Given the description of an element on the screen output the (x, y) to click on. 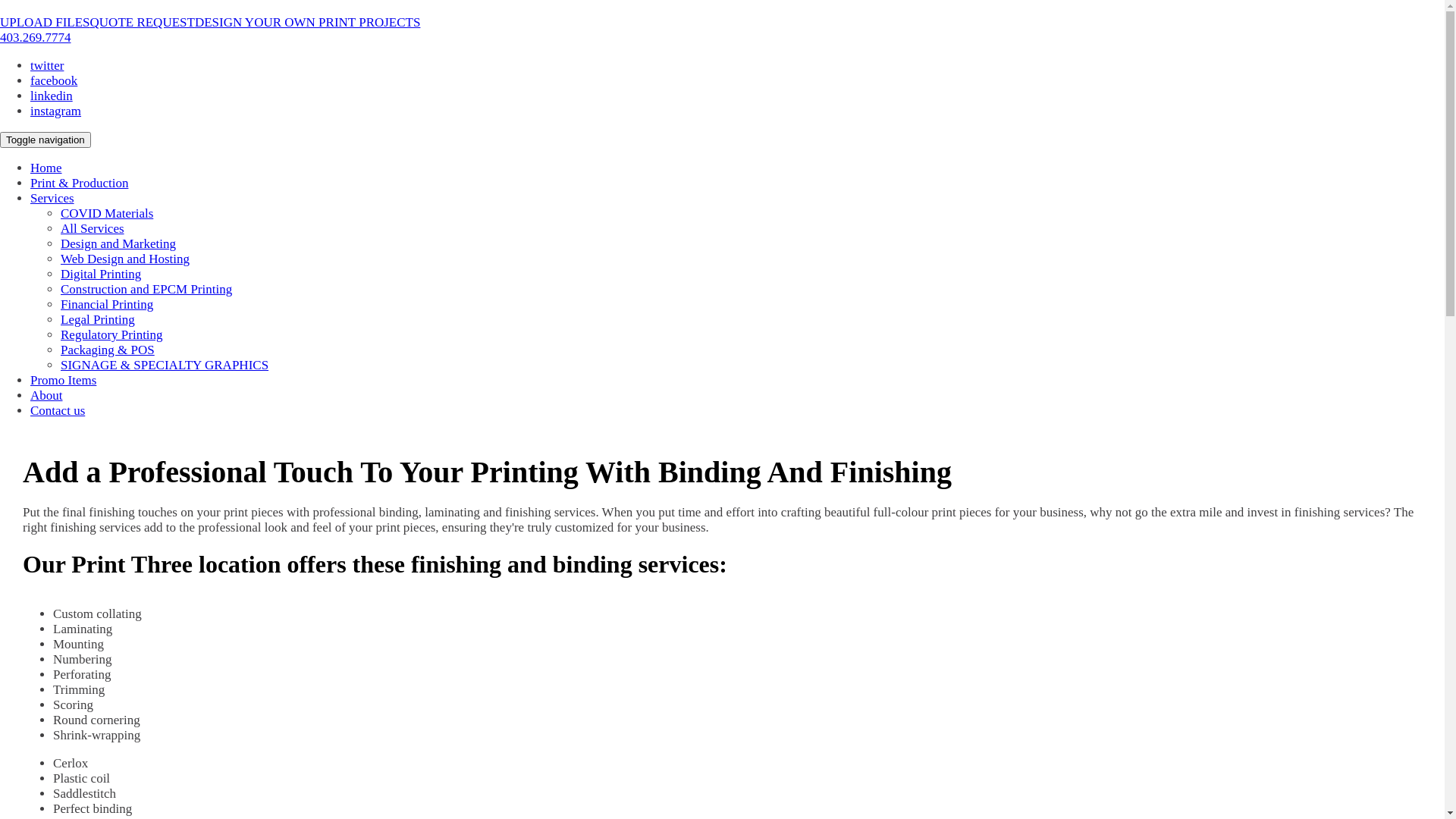
QUOTE REQUEST Element type: text (142, 22)
UPLOAD FILES Element type: text (45, 22)
Promo Items Element type: text (63, 380)
About Element type: text (46, 395)
Design and Marketing Element type: text (117, 243)
Legal Printing Element type: text (97, 319)
Web Design and Hosting Element type: text (124, 258)
instagram Element type: text (55, 110)
Home Element type: text (46, 167)
COVID Materials Element type: text (106, 213)
Toggle navigation Element type: text (45, 139)
Packaging & POS Element type: text (107, 349)
Print & Production Element type: text (79, 182)
DESIGN YOUR OWN PRINT PROJECTS Element type: text (307, 22)
Financial Printing Element type: text (106, 304)
Construction and EPCM Printing Element type: text (146, 289)
linkedin Element type: text (51, 95)
Regulatory Printing Element type: text (111, 334)
twitter Element type: text (46, 65)
403.269.7774 Element type: text (35, 37)
SIGNAGE & SPECIALTY GRAPHICS Element type: text (164, 364)
All Services Element type: text (92, 228)
Contact us Element type: text (57, 410)
Services Element type: text (52, 198)
facebook Element type: text (53, 80)
Digital Printing Element type: text (100, 273)
